Given the description of an element on the screen output the (x, y) to click on. 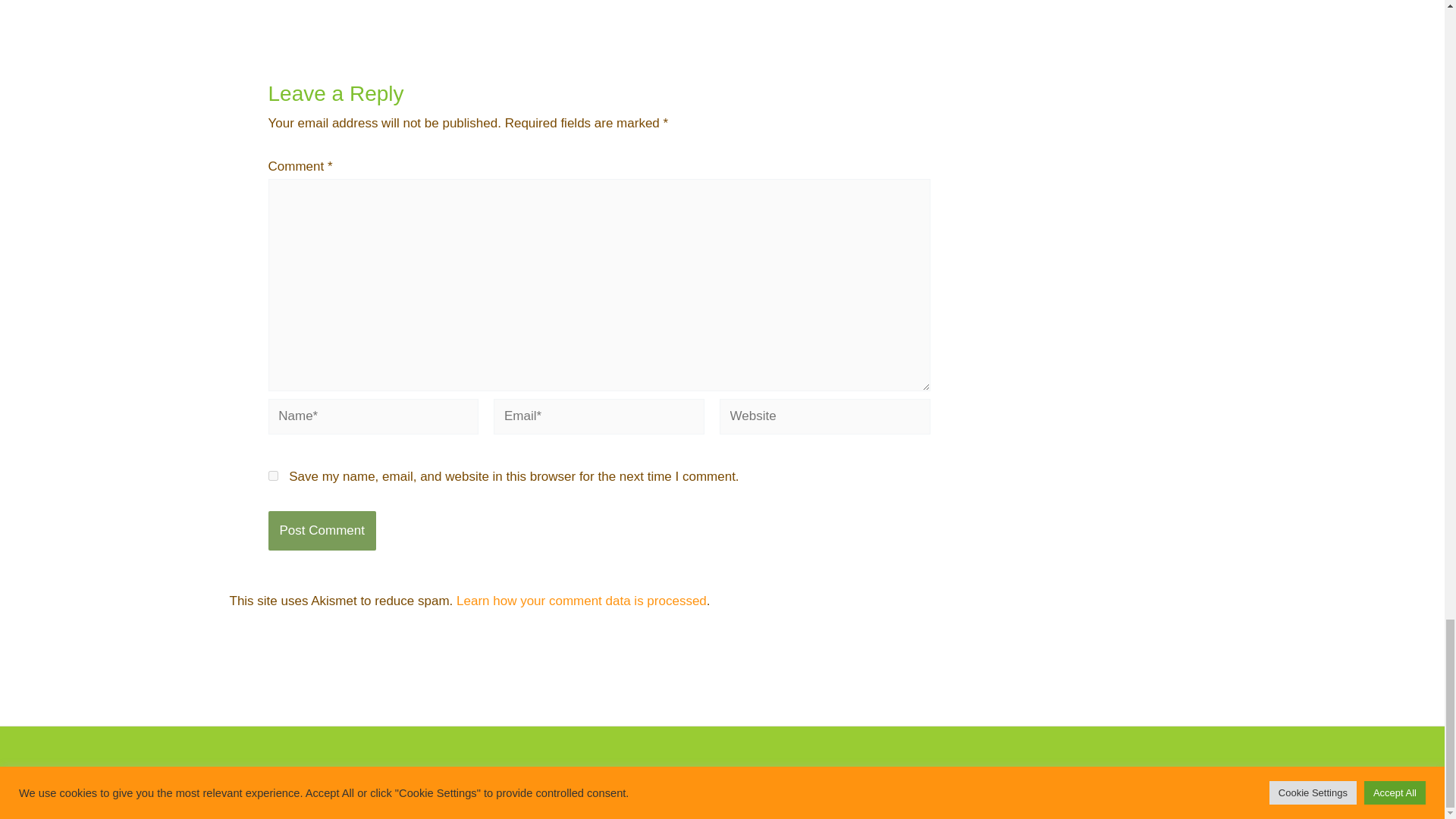
Post Comment (321, 530)
yes (272, 475)
